Given the description of an element on the screen output the (x, y) to click on. 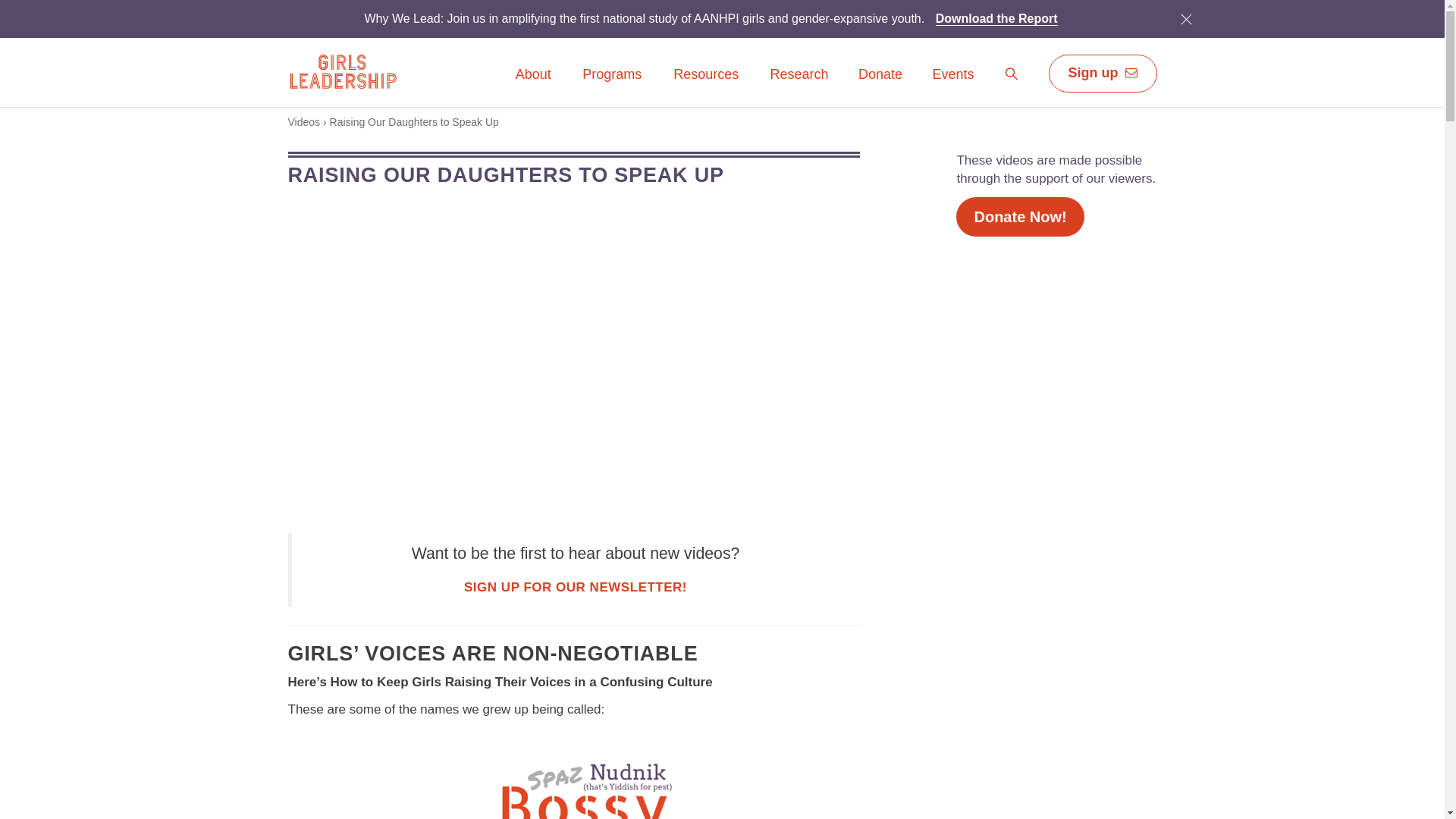
SIGN UP FOR OUR NEWSLETTER! (575, 586)
Events (952, 75)
Research (798, 84)
Resources (706, 84)
Resources (706, 75)
Donate (879, 75)
A6F524C7-72F2-47B1-896C-2077AF8665D0 (1183, 18)
About (533, 75)
Events (952, 84)
A6F524C7-72F2-47B1-896C-2077AF8665D0 (1185, 18)
Download the Report (997, 18)
SIGN UP FOR OUR NEWSLETTER! (575, 586)
Girls Leadership (341, 71)
Research (798, 75)
Search (1012, 74)
